Given the description of an element on the screen output the (x, y) to click on. 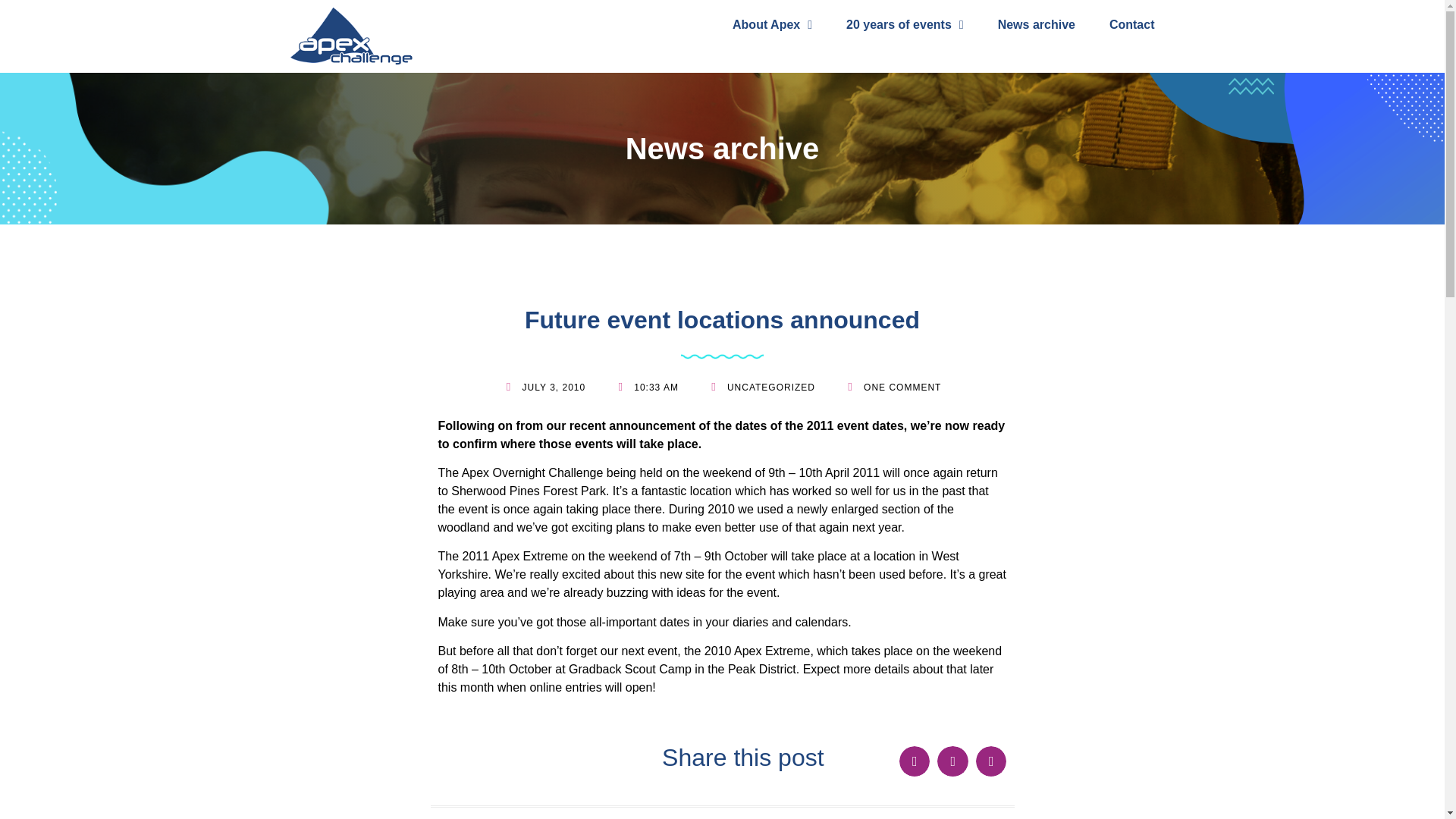
About Apex (772, 24)
News archive (1036, 24)
UNCATEGORIZED (770, 387)
Contact (1131, 24)
20 years of events (904, 24)
JULY 3, 2010 (544, 386)
ONE COMMENT (892, 386)
